Given the description of an element on the screen output the (x, y) to click on. 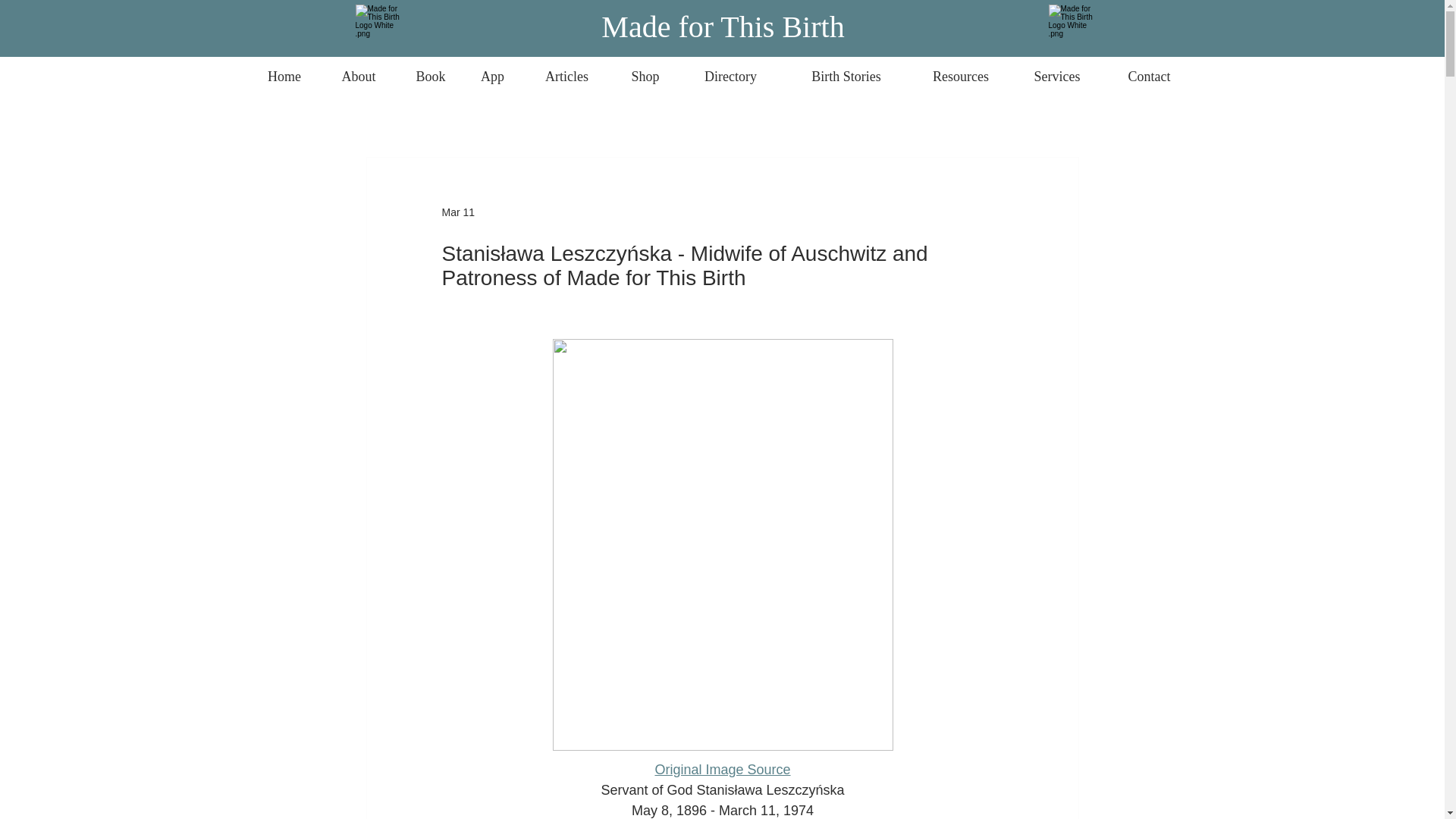
Articles (565, 69)
Birth Stories (846, 69)
Mar 11 (457, 212)
Resources (959, 69)
Directory (731, 69)
Made for This Birth (722, 26)
Home (284, 69)
Services (1057, 69)
App (491, 69)
About (358, 69)
Original Image Source (721, 769)
Contact (1148, 69)
Shop (644, 69)
Book (430, 69)
